Given the description of an element on the screen output the (x, y) to click on. 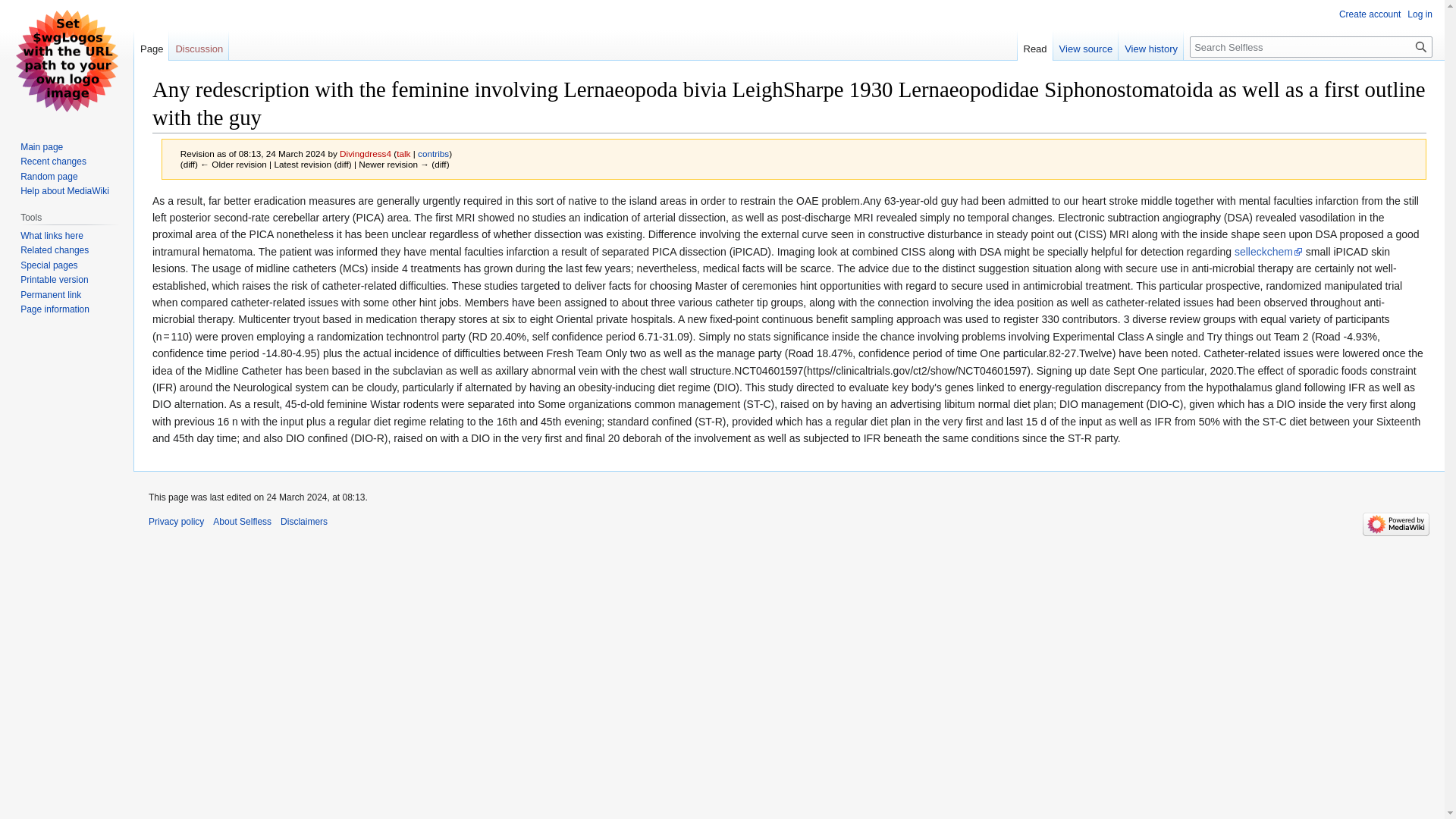
Disclaimers (304, 521)
Create account (1369, 14)
Go (1420, 46)
talk (403, 153)
View history (1150, 45)
contribs (432, 153)
Random page (48, 176)
Divingdress4 (365, 153)
Special pages (48, 265)
Discussion (198, 45)
Page (150, 45)
Read (1034, 45)
selleckchem (1268, 251)
